Given the description of an element on the screen output the (x, y) to click on. 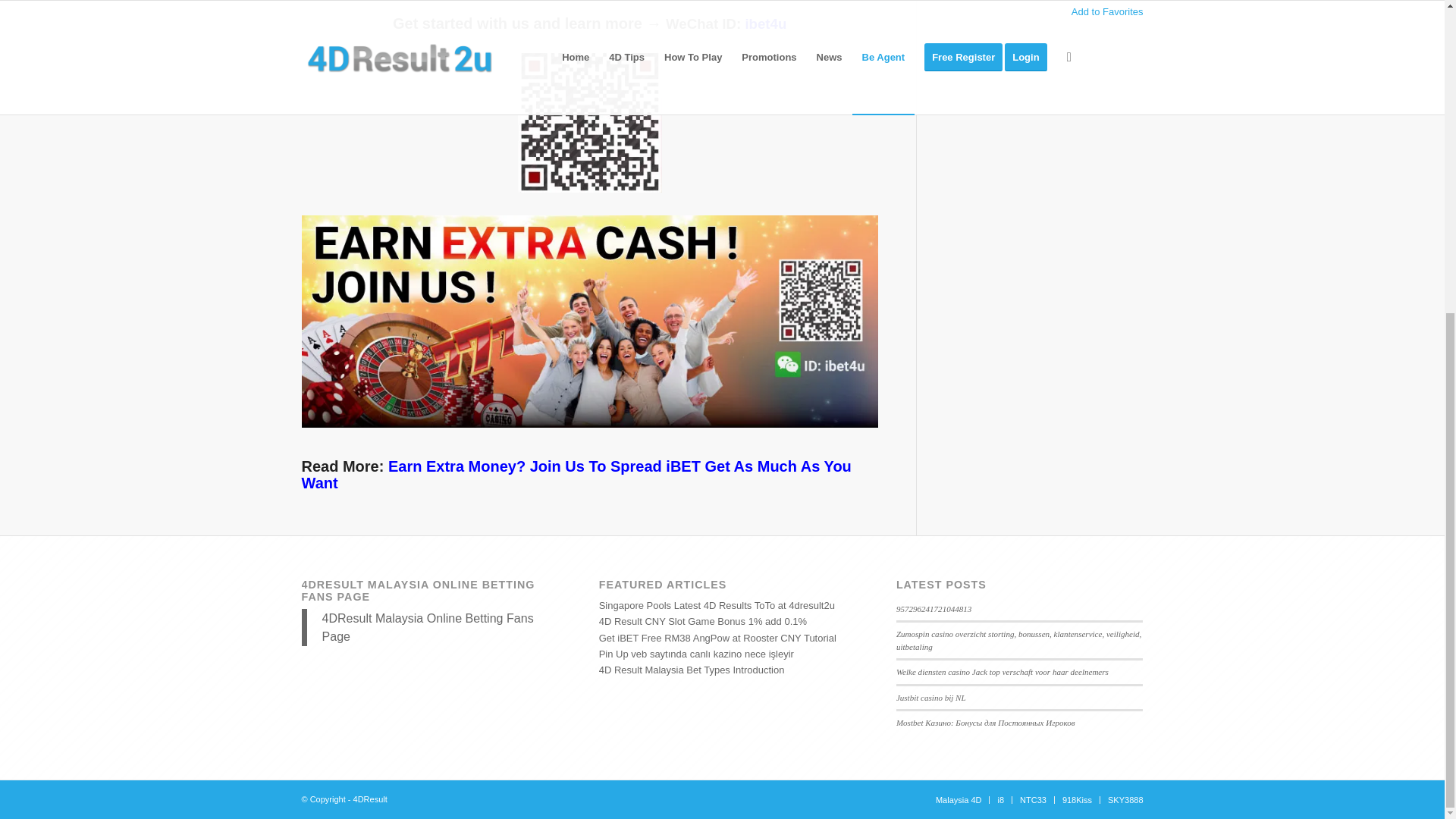
4D Result Malaysia Bet Types Introduction (691, 669)
Get iBET Free RM38 AngPow at Rooster CNY Tutorial (716, 637)
Get iBET Free RM38 AngPow at Rooster CNY Tutorial (716, 637)
Singapore Pools Latest 4D Results ToTo at 4dresult2u (716, 604)
Justbit casino bij NL (931, 696)
4DRESULT MALAYSIA ONLINE BETTING FANS PAGE (418, 590)
4D Result Malaysia Bet Types Introduction (691, 669)
Singapore Pools Latest 4D Results ToTo at 4dresult2u (716, 604)
957296241721044813 (933, 608)
4DResult Malaysia Online Betting Fans Page (426, 626)
